Given the description of an element on the screen output the (x, y) to click on. 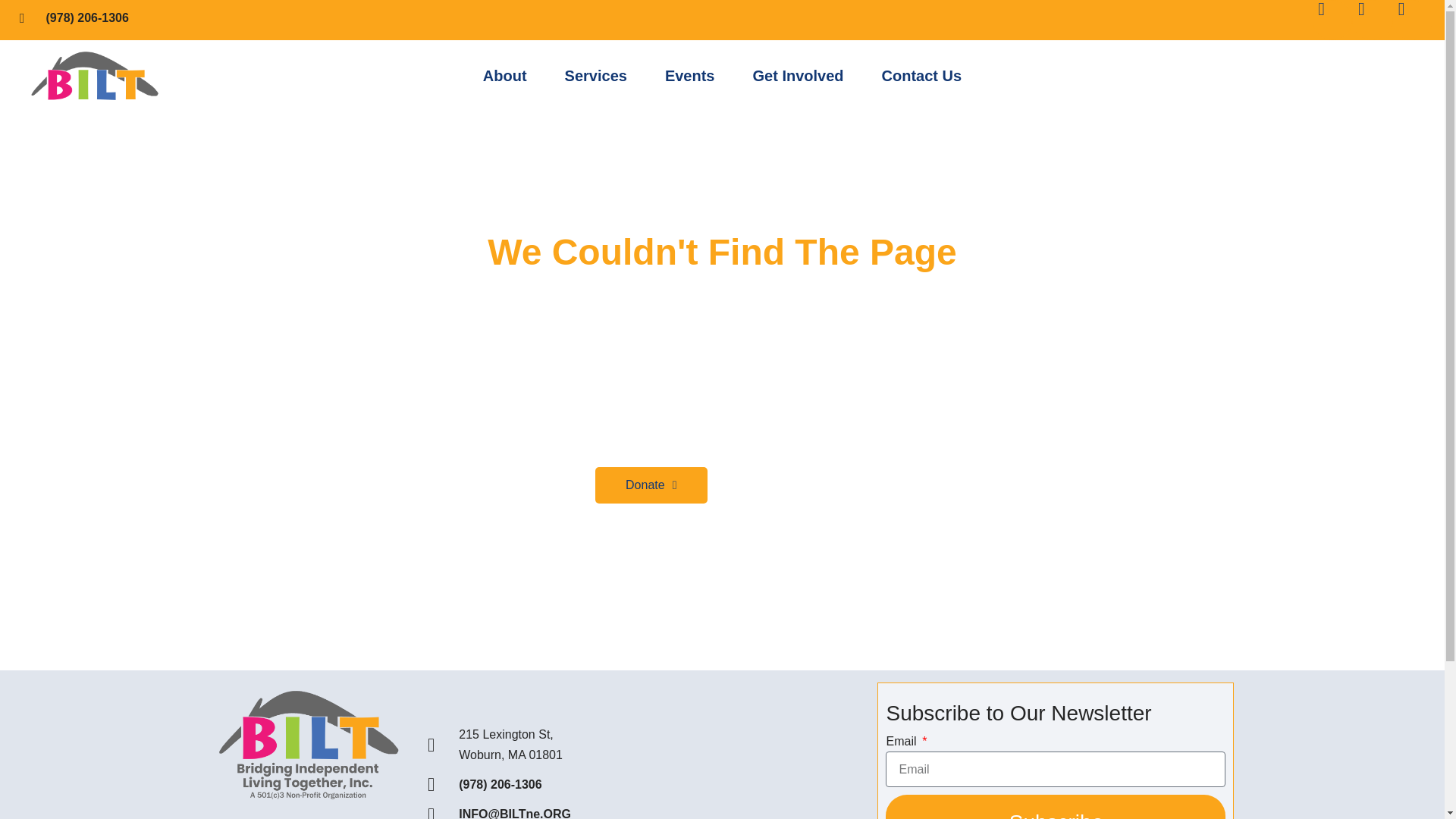
Services (595, 75)
Or Volunteer (774, 485)
Contact Us (922, 75)
Subscribe (1055, 806)
Donate (650, 484)
About (505, 75)
Events (689, 75)
Get Involved (797, 75)
